Given the description of an element on the screen output the (x, y) to click on. 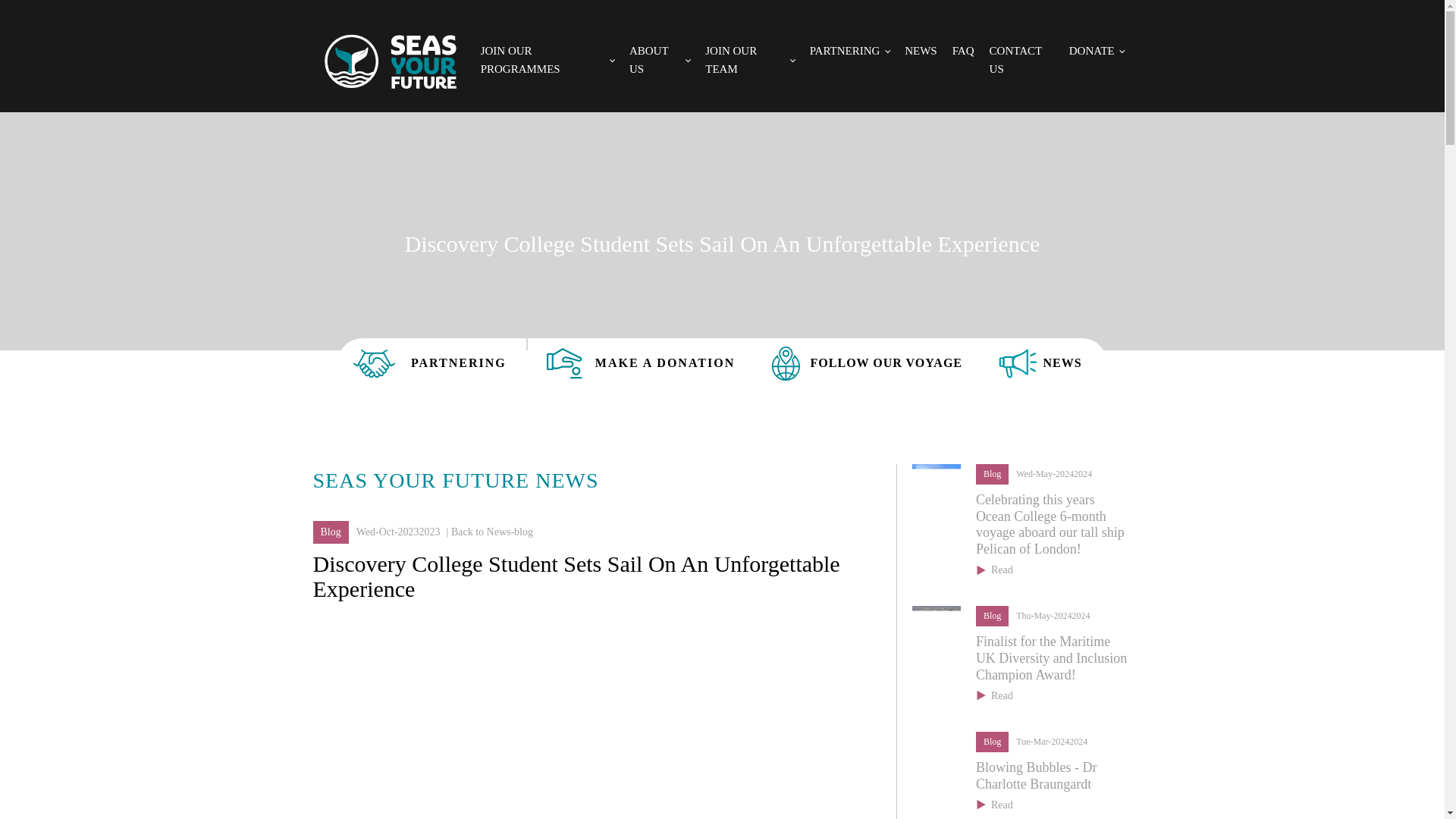
JOIN OUR TEAM (749, 59)
JOIN OUR PROGRAMMES (547, 59)
